Given the description of an element on the screen output the (x, y) to click on. 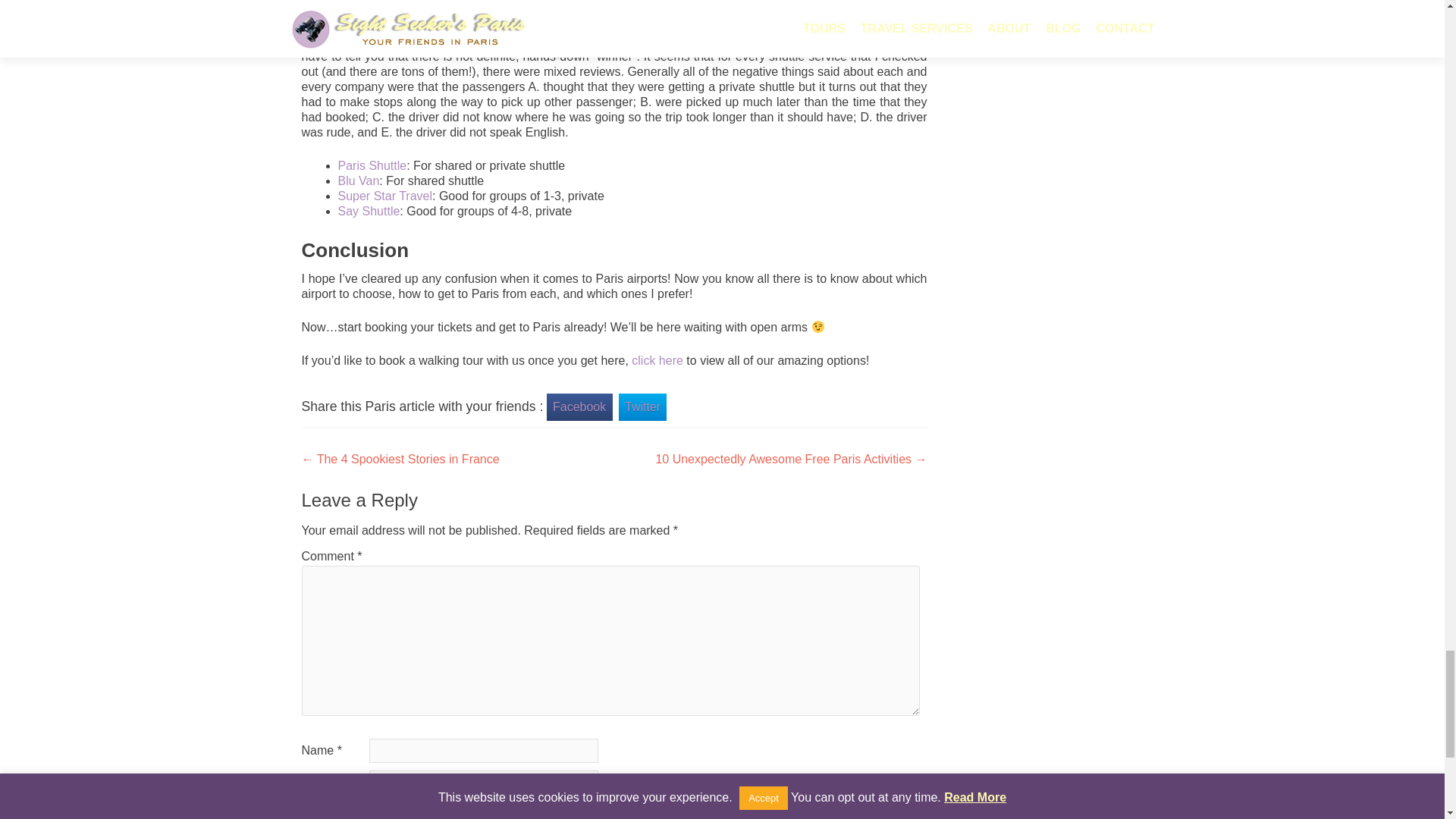
Paris Shuttle (372, 164)
Blu Van (358, 180)
Say Shuttle (368, 210)
Facebook (579, 406)
click here (656, 359)
Twitter (642, 406)
Super Star Travel (384, 195)
